Given the description of an element on the screen output the (x, y) to click on. 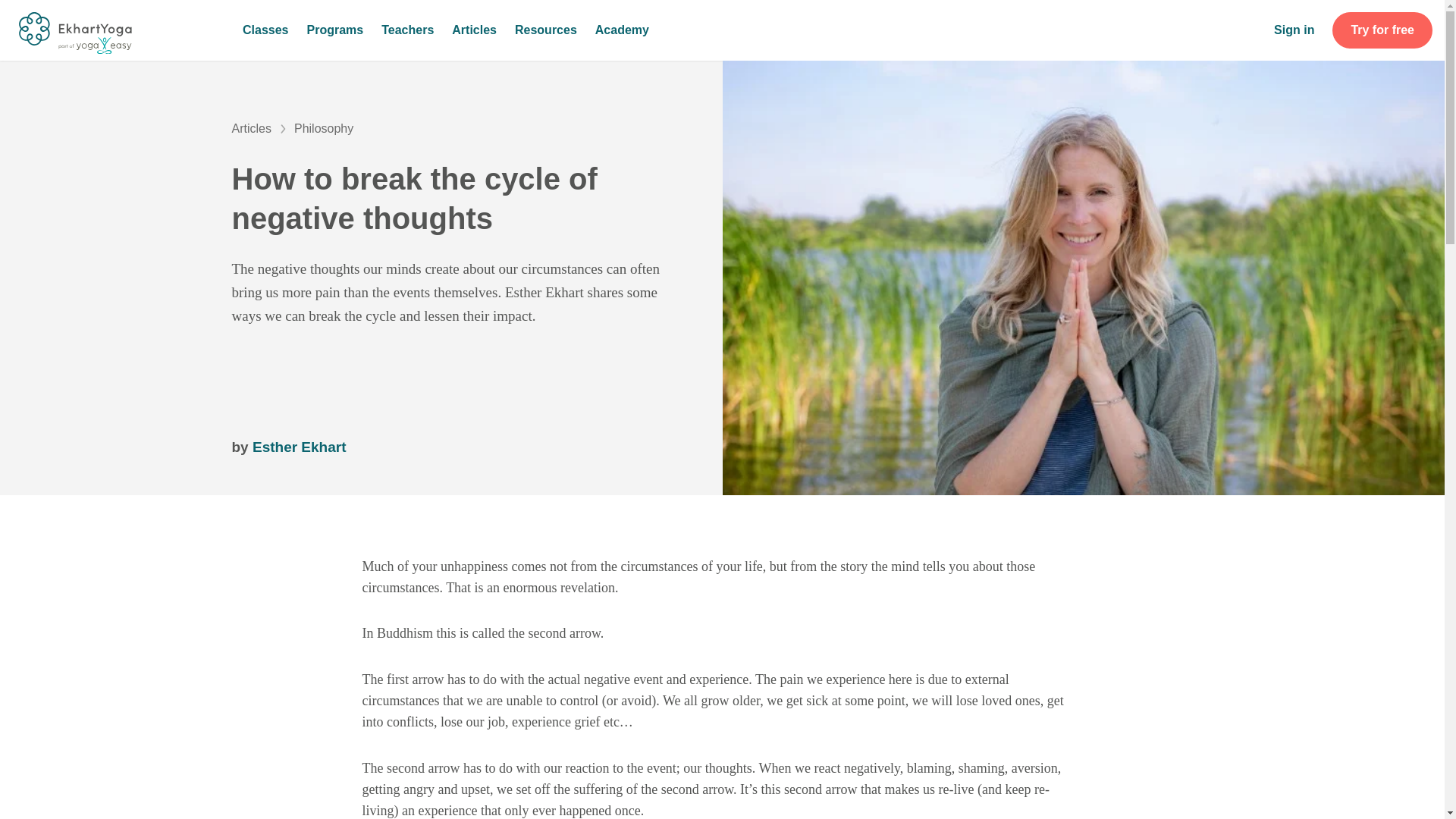
Resources (545, 30)
Sign in (1293, 29)
Classes (265, 30)
Programs (333, 30)
Resources (545, 30)
Programs (333, 30)
Articles (473, 30)
Try for free (1382, 30)
Teachers (407, 30)
Academy (622, 30)
Teachers (407, 30)
Articles (473, 30)
Academy (622, 30)
Classes (265, 30)
